Given the description of an element on the screen output the (x, y) to click on. 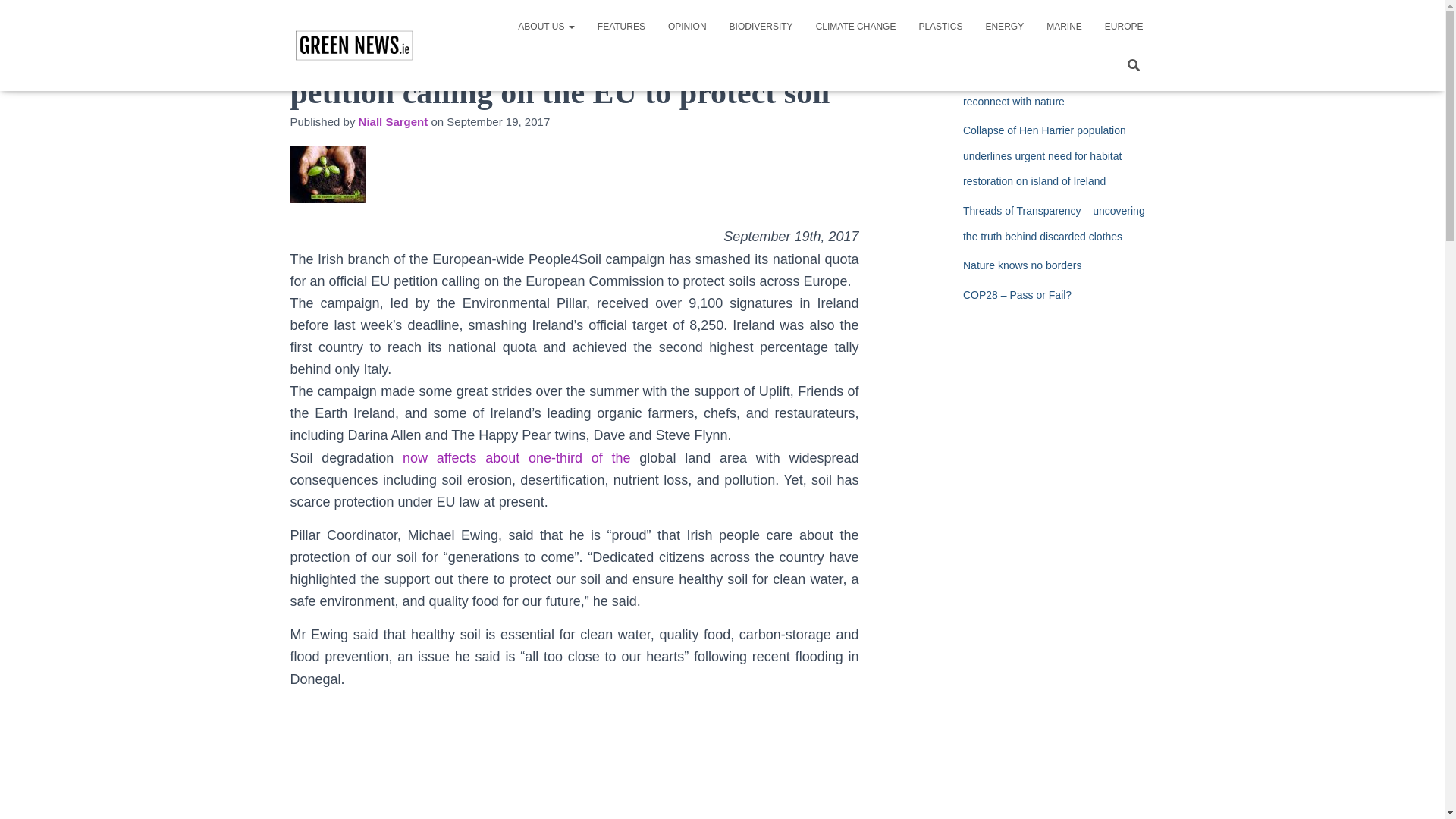
Niall Sargent (393, 121)
BIODIVERSITY (761, 26)
Opinion (686, 26)
FEATURES (621, 26)
EUROPE (1123, 26)
Energy (1004, 26)
Plastics (940, 26)
ENERGY (1004, 26)
Darina Allen People4Soil petition endorsement (574, 760)
Biodiversity (761, 26)
